Given the description of an element on the screen output the (x, y) to click on. 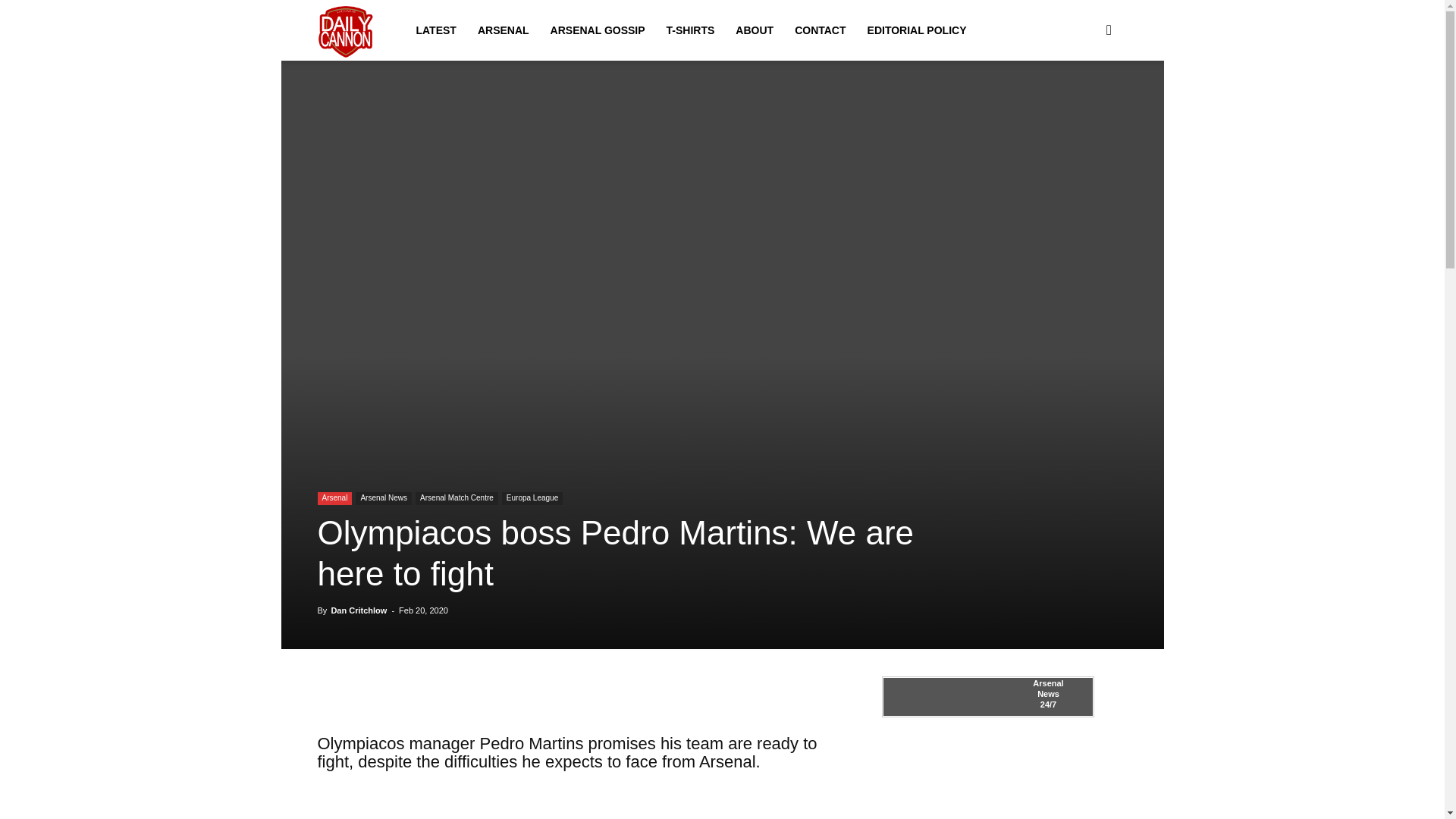
Search (1085, 102)
